Given the description of an element on the screen output the (x, y) to click on. 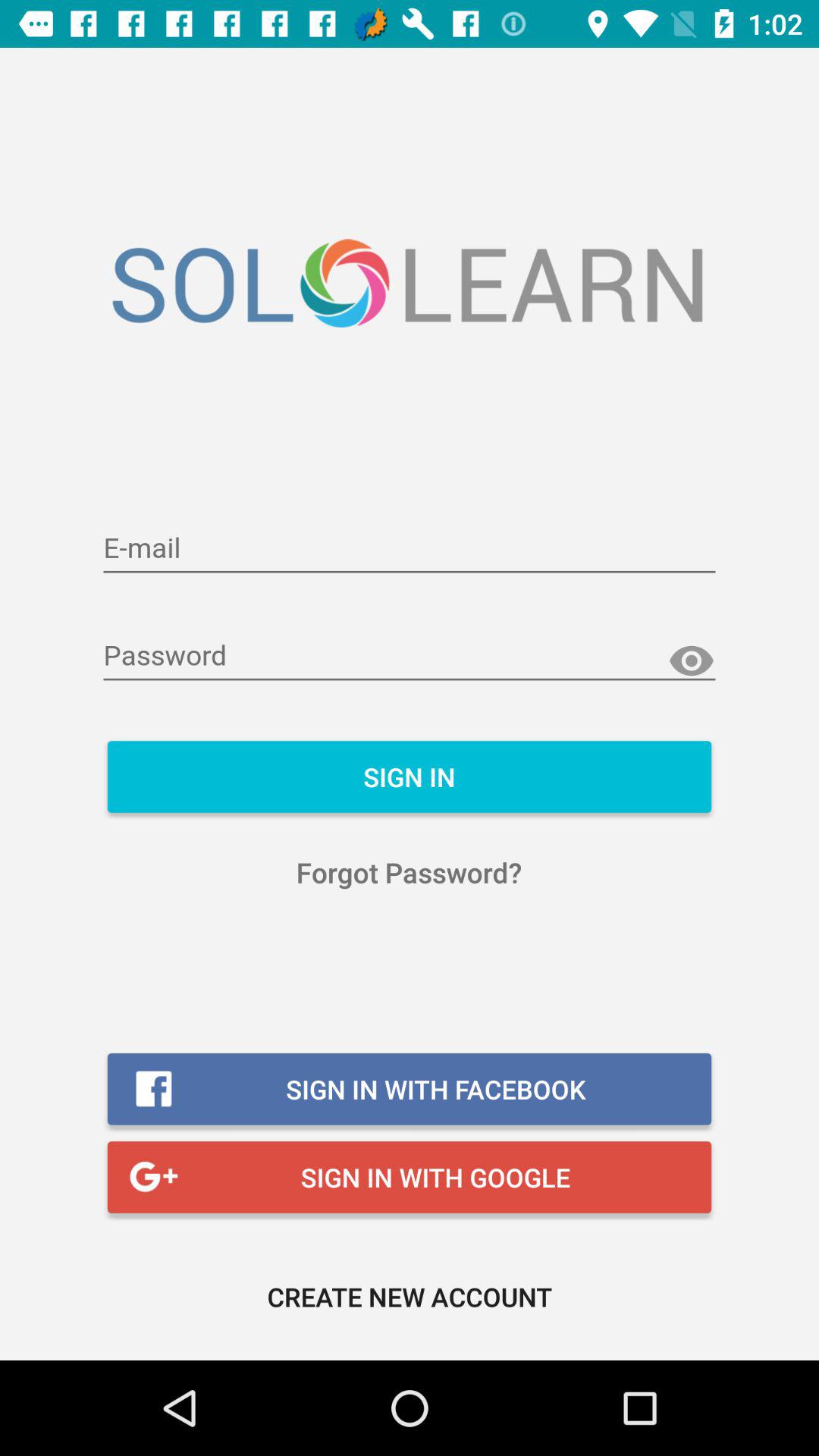
click item below sign in icon (409, 872)
